Given the description of an element on the screen output the (x, y) to click on. 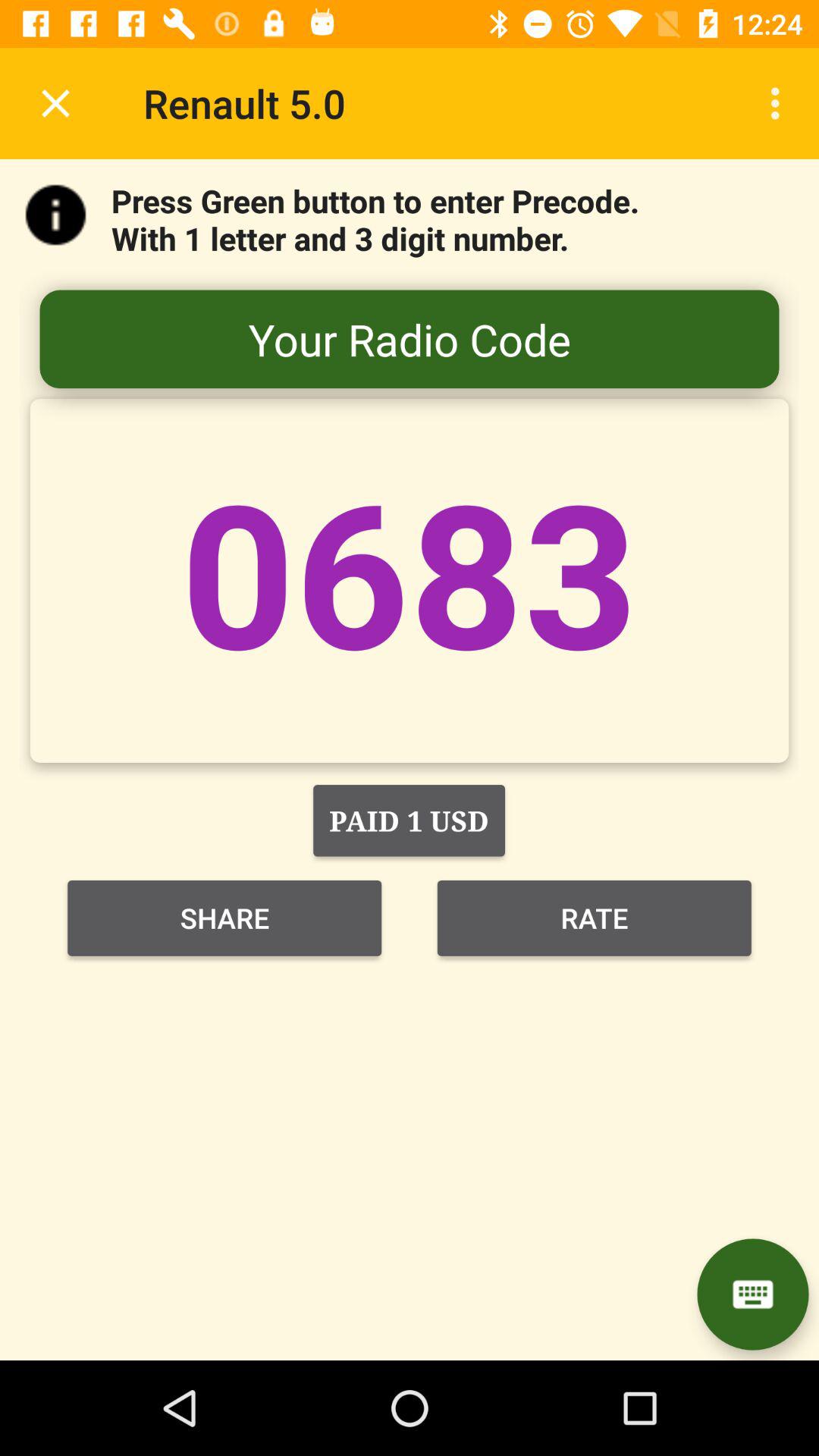
click the item next to the share icon (594, 918)
